Given the description of an element on the screen output the (x, y) to click on. 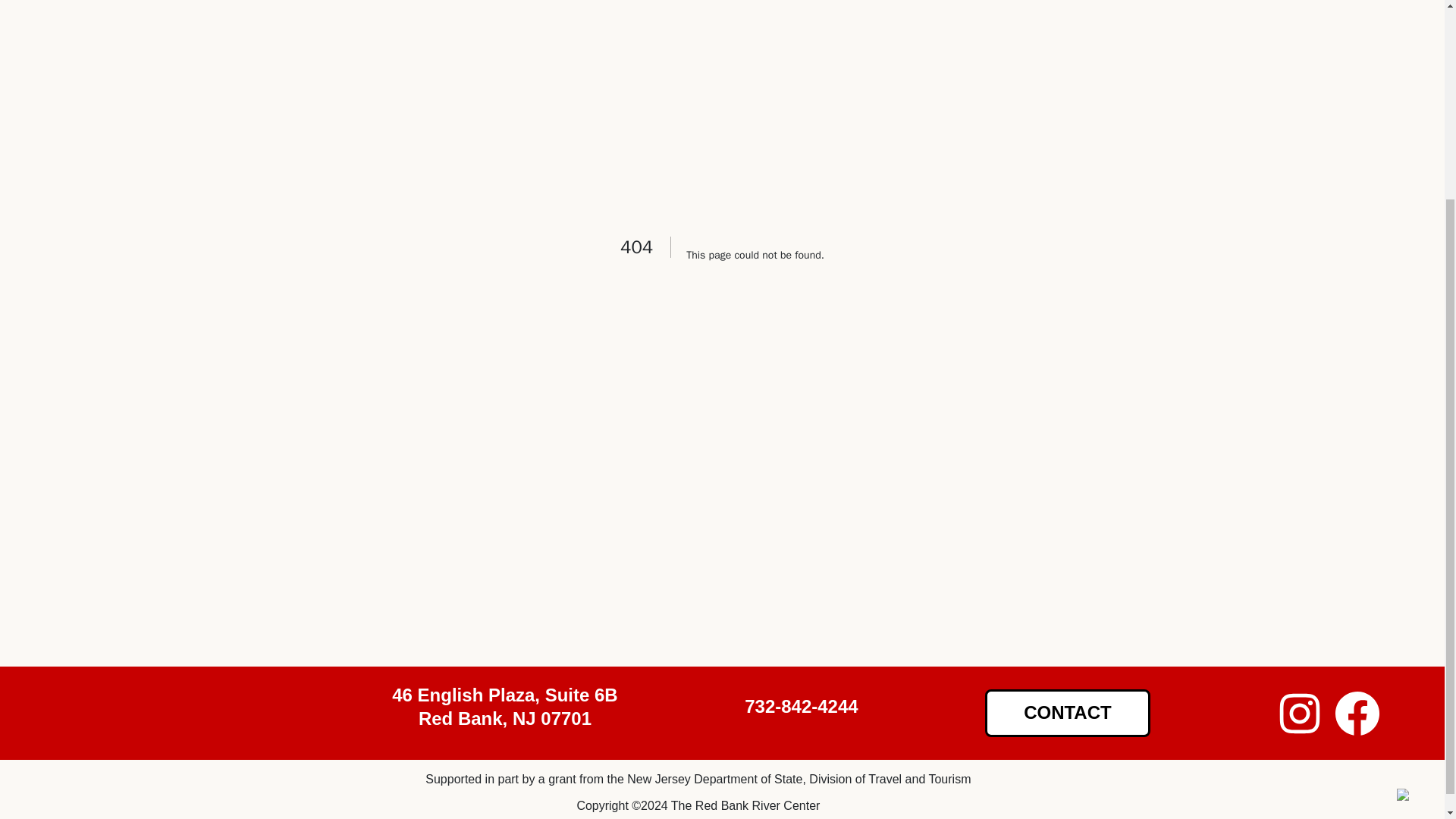
CONTACT (1067, 713)
CONTACT (1067, 714)
